Given the description of an element on the screen output the (x, y) to click on. 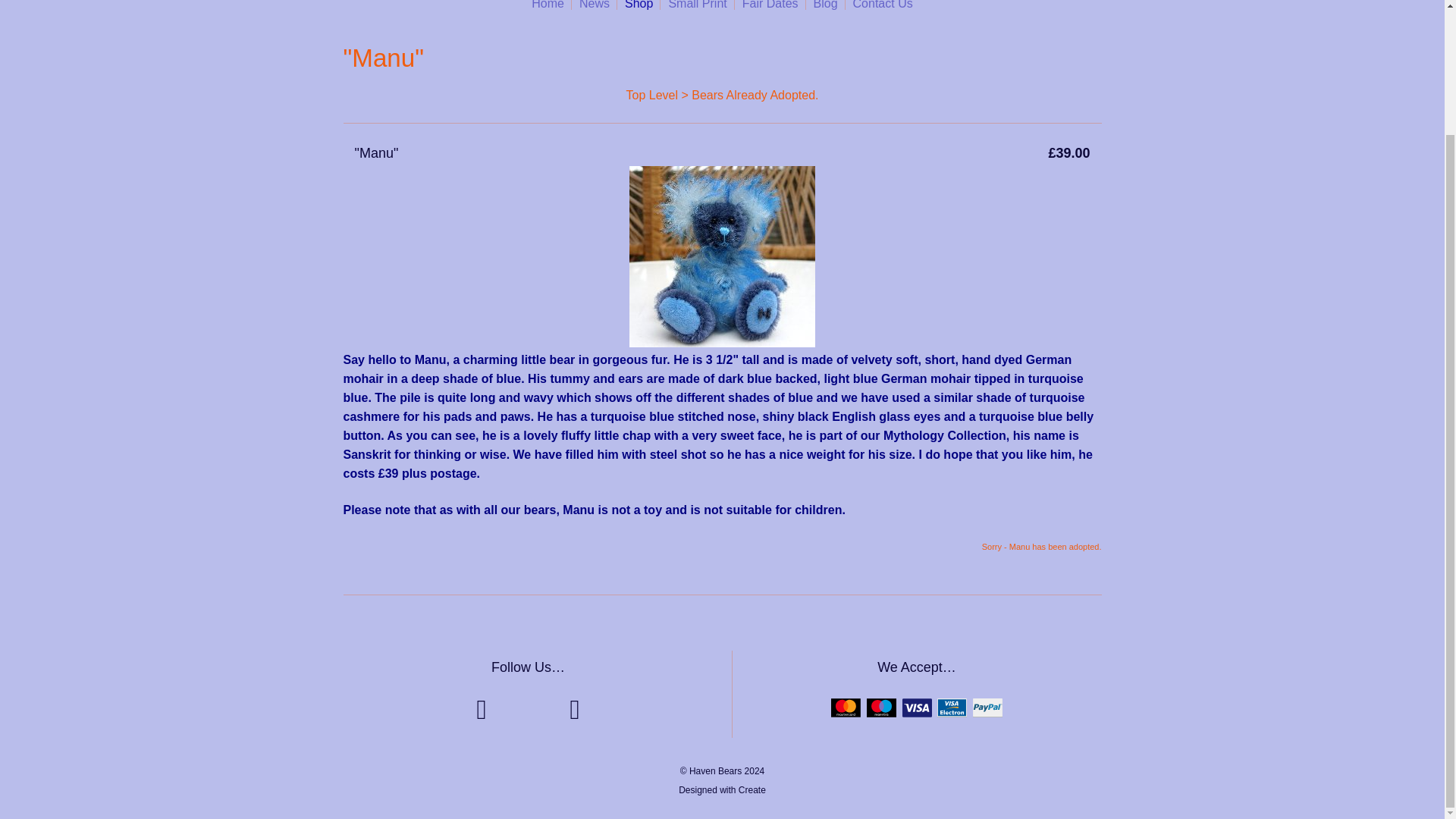
Top Level (652, 94)
Home (548, 10)
Fair Dates (770, 10)
Contact Us (882, 10)
News (594, 10)
Shop (639, 10)
Small Print (697, 10)
Blog (825, 10)
Create (751, 789)
Bears Already Adopted. (754, 94)
